Given the description of an element on the screen output the (x, y) to click on. 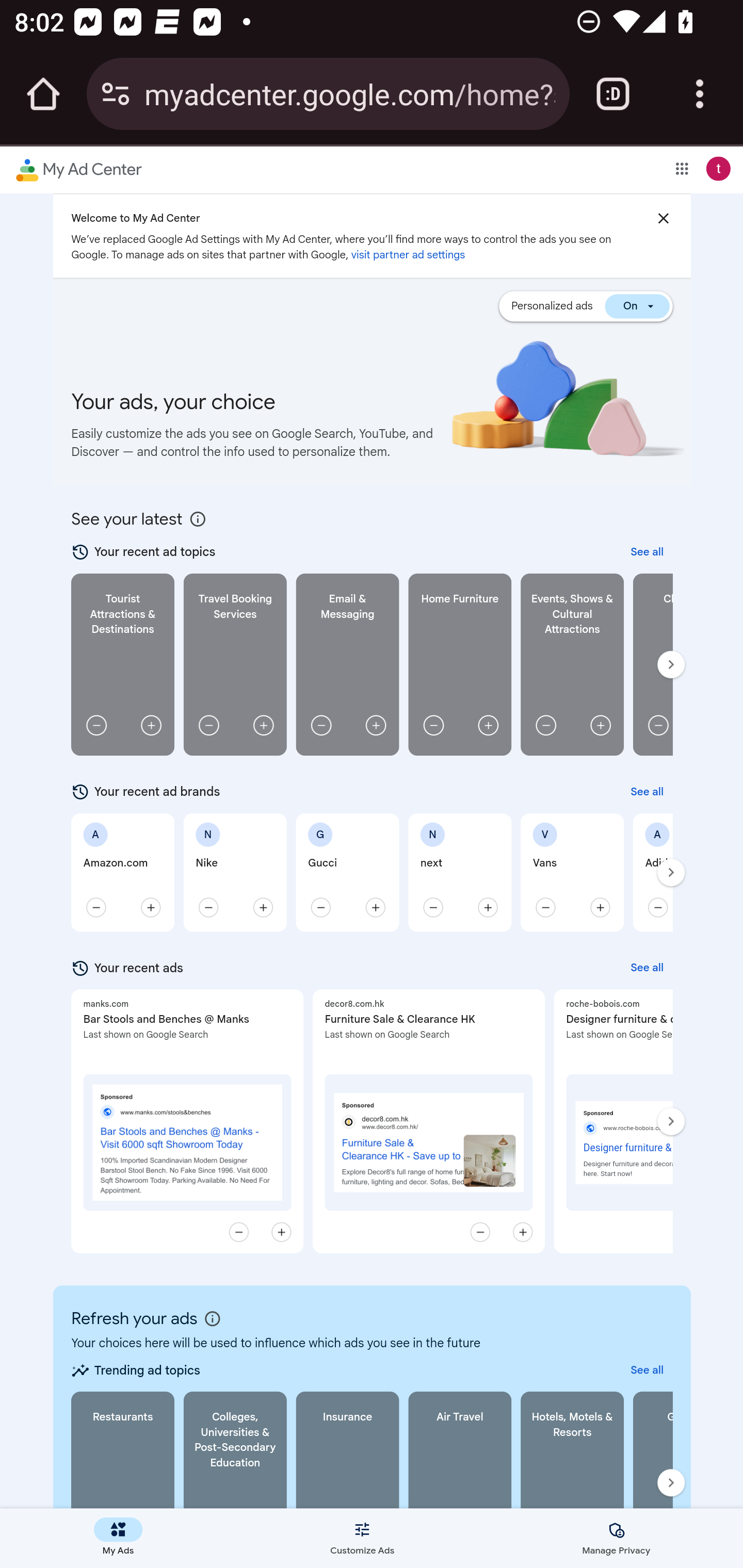
Open the home page (43, 93)
Connection is secure (115, 93)
Switch or close tabs (612, 93)
Customize and control Google Chrome (699, 93)
Google apps (681, 168)
My Ad Center (77, 170)
Close (663, 217)
visit partner ad settings (407, 254)
Turn off (637, 305)
Get more information about ad topics for you (197, 518)
See all ad topics (646, 551)
Get fewer ads about: Travel Booking Services (207, 725)
Get more ads about: Travel Booking Services (261, 725)
Get fewer ads about: Email & Messaging (319, 725)
Get more ads about: Email & Messaging (374, 725)
Get fewer ads about: Home Furniture (432, 725)
Get more ads about: Home Furniture (486, 725)
Get fewer ads about: Clothing (655, 725)
See all brands (646, 791)
Get fewer ads about: Amazon.com (95, 907)
Get more ads about: Amazon.com (150, 907)
Get fewer ads about: Nike (207, 907)
Get more ads about: Nike (261, 907)
Get fewer ads about: Gucci (319, 907)
Get more ads about: Gucci (374, 907)
Get fewer ads about: next (432, 907)
Get more ads about: next (486, 907)
Get fewer ads about: Vans (544, 907)
Get more ads about: Vans (599, 907)
Get fewer ads about: Adidas (655, 907)
See all recent ads (646, 968)
Fewer like this (237, 1232)
More like this (280, 1232)
Fewer like this (479, 1232)
More like this (521, 1232)
Get more information about refreshing your ads (212, 1318)
See all ad topics (646, 1370)
My Ads (118, 1538)
Customize Ads (361, 1538)
Manage Privacy (615, 1538)
